Given the description of an element on the screen output the (x, y) to click on. 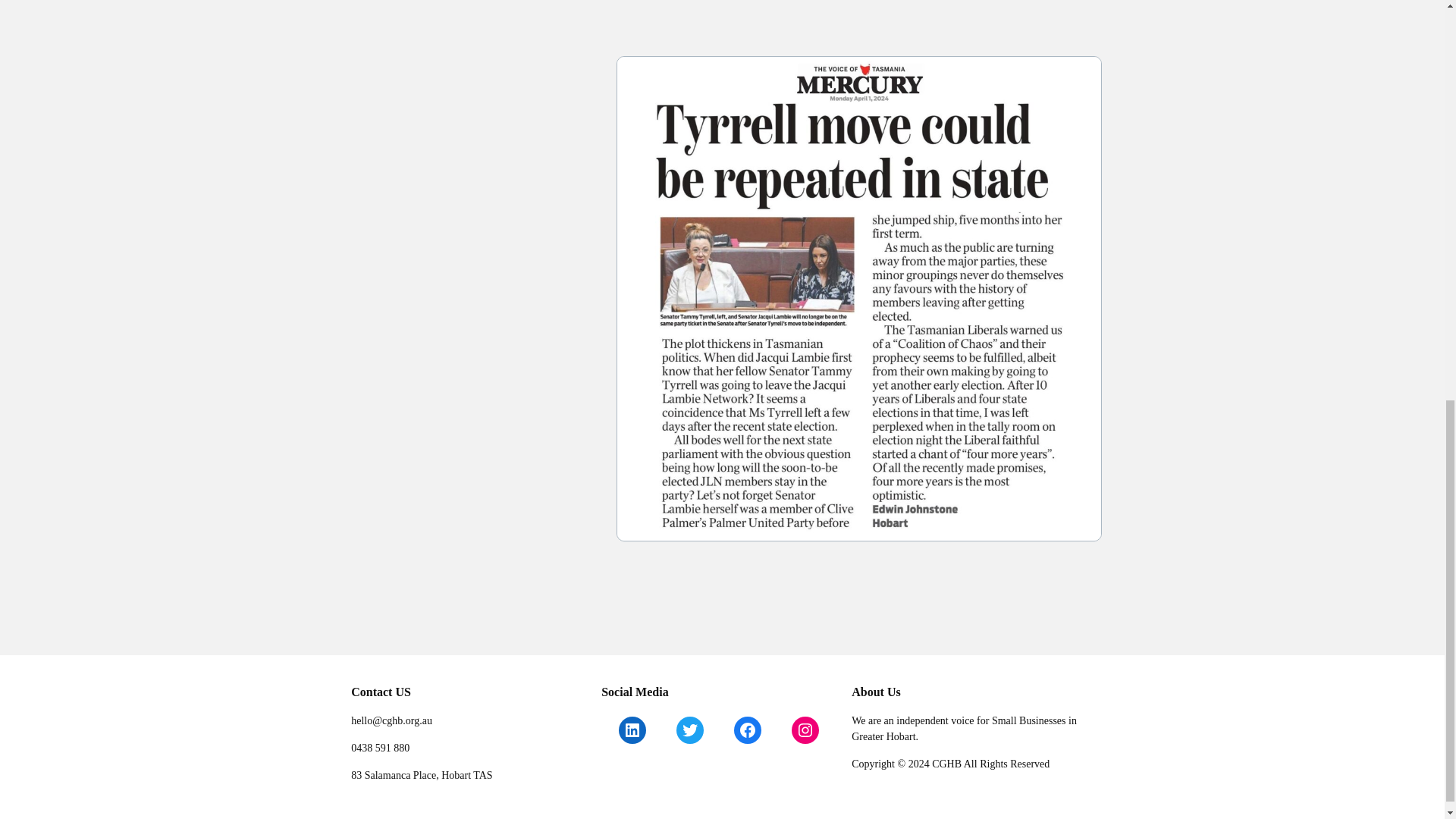
Facebook (747, 729)
LinkedIn (632, 729)
Instagram (805, 729)
Twitter (690, 729)
